Given the description of an element on the screen output the (x, y) to click on. 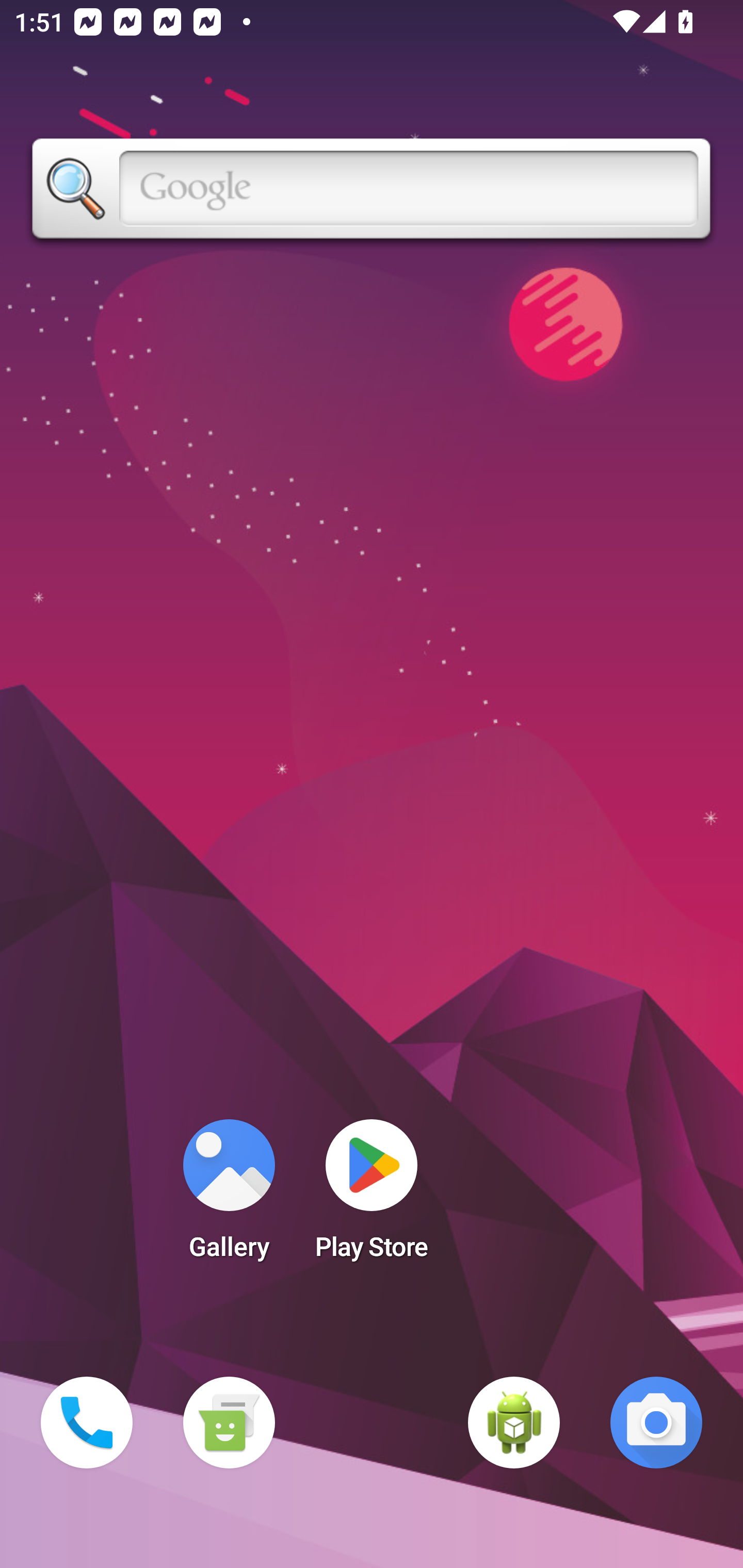
Gallery (228, 1195)
Play Store (371, 1195)
Phone (86, 1422)
Messaging (228, 1422)
WebView Browser Tester (513, 1422)
Camera (656, 1422)
